Given the description of an element on the screen output the (x, y) to click on. 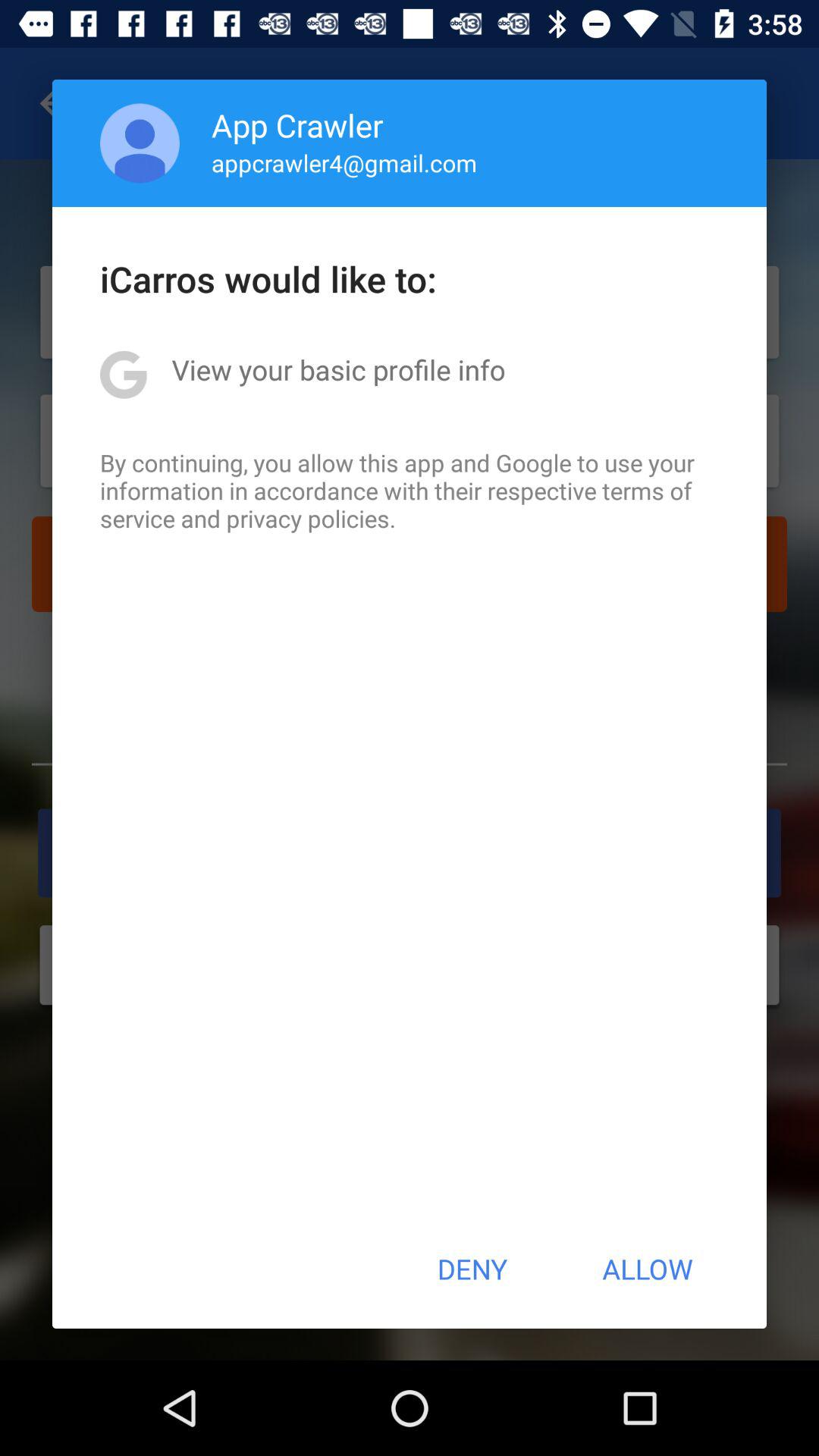
select the icon below the by continuing you app (471, 1268)
